Given the description of an element on the screen output the (x, y) to click on. 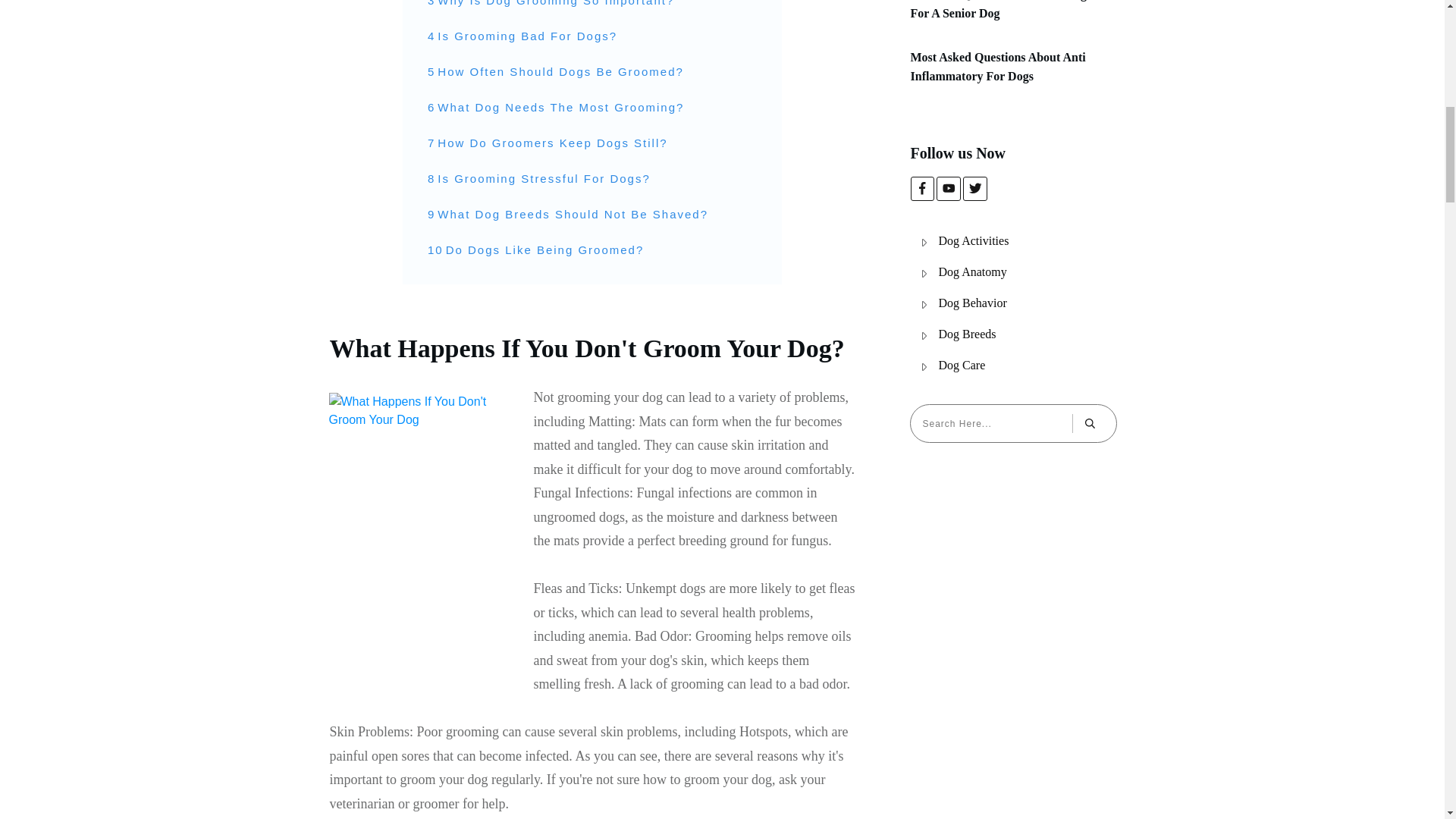
Is Grooming Stressful For Dogs? (543, 178)
Is Grooming Bad For Dogs? (527, 36)
What Dog Breeds Should Not Be Shaved? (572, 214)
How Often Should Dogs Be Groomed? (560, 72)
What Dog Breeds Should Not Be Shaved? (572, 214)
How Do Groomers Keep Dogs Still? (552, 143)
Why Is Dog Grooming So Important? (556, 4)
Is Grooming Bad For Dogs? (527, 36)
How Often Should Dogs Be Groomed? (560, 72)
What Dog Needs The Most Grooming? (561, 107)
Do Dogs Like Being Groomed? (545, 249)
What Dog Needs The Most Grooming? (561, 107)
Is Grooming Stressful For Dogs? (543, 178)
How Do Groomers Keep Dogs Still? (552, 143)
Why Is Dog Grooming So Important? (556, 4)
